Given the description of an element on the screen output the (x, y) to click on. 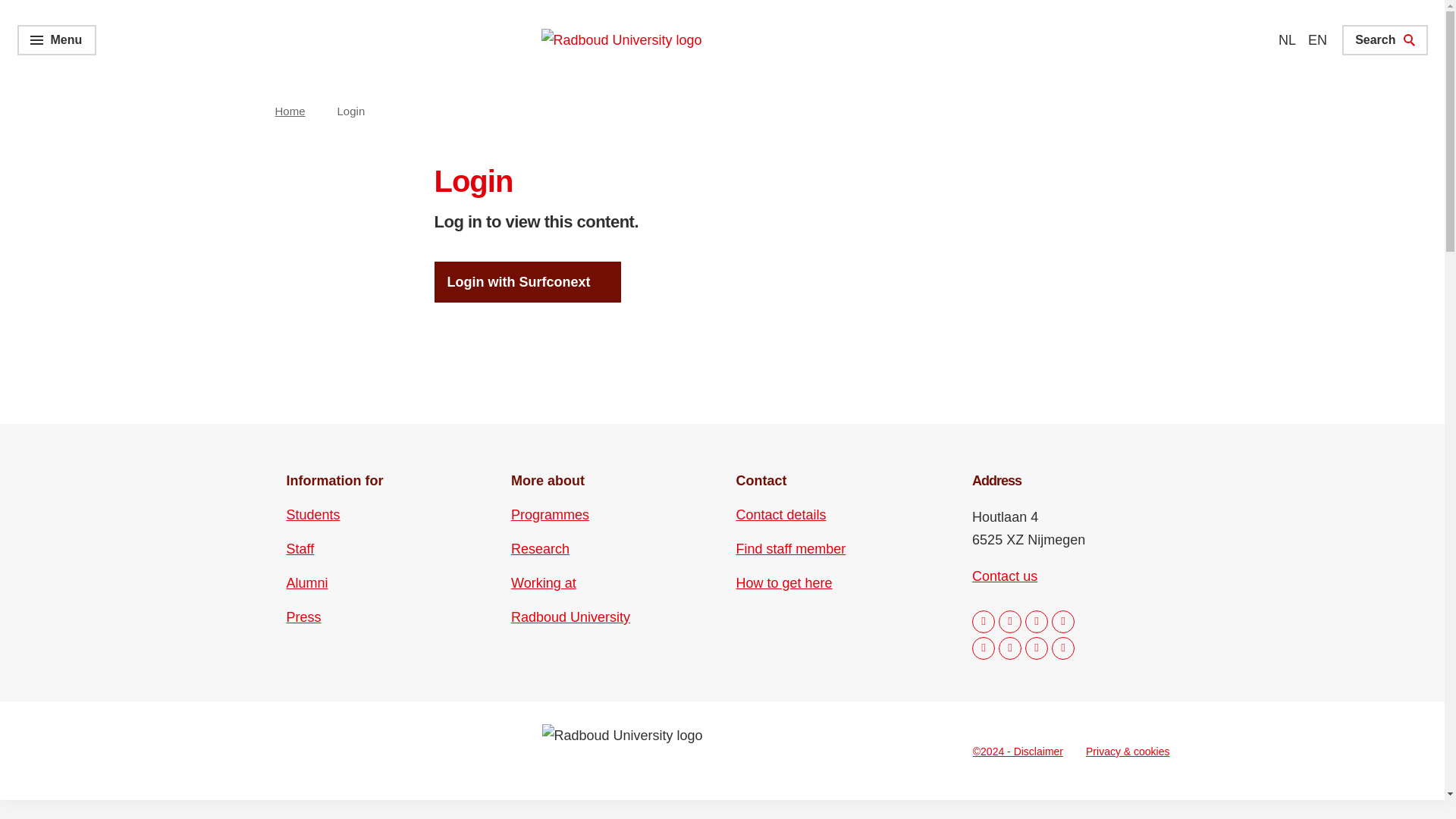
TikTok (1036, 648)
Instagram (1010, 621)
LinkedIn (1036, 621)
YouTube (1010, 648)
X (983, 648)
Facebook (983, 621)
SnapChat (1062, 648)
Mastodon (1062, 621)
Information about our campus and how to get here (784, 582)
